Given the description of an element on the screen output the (x, y) to click on. 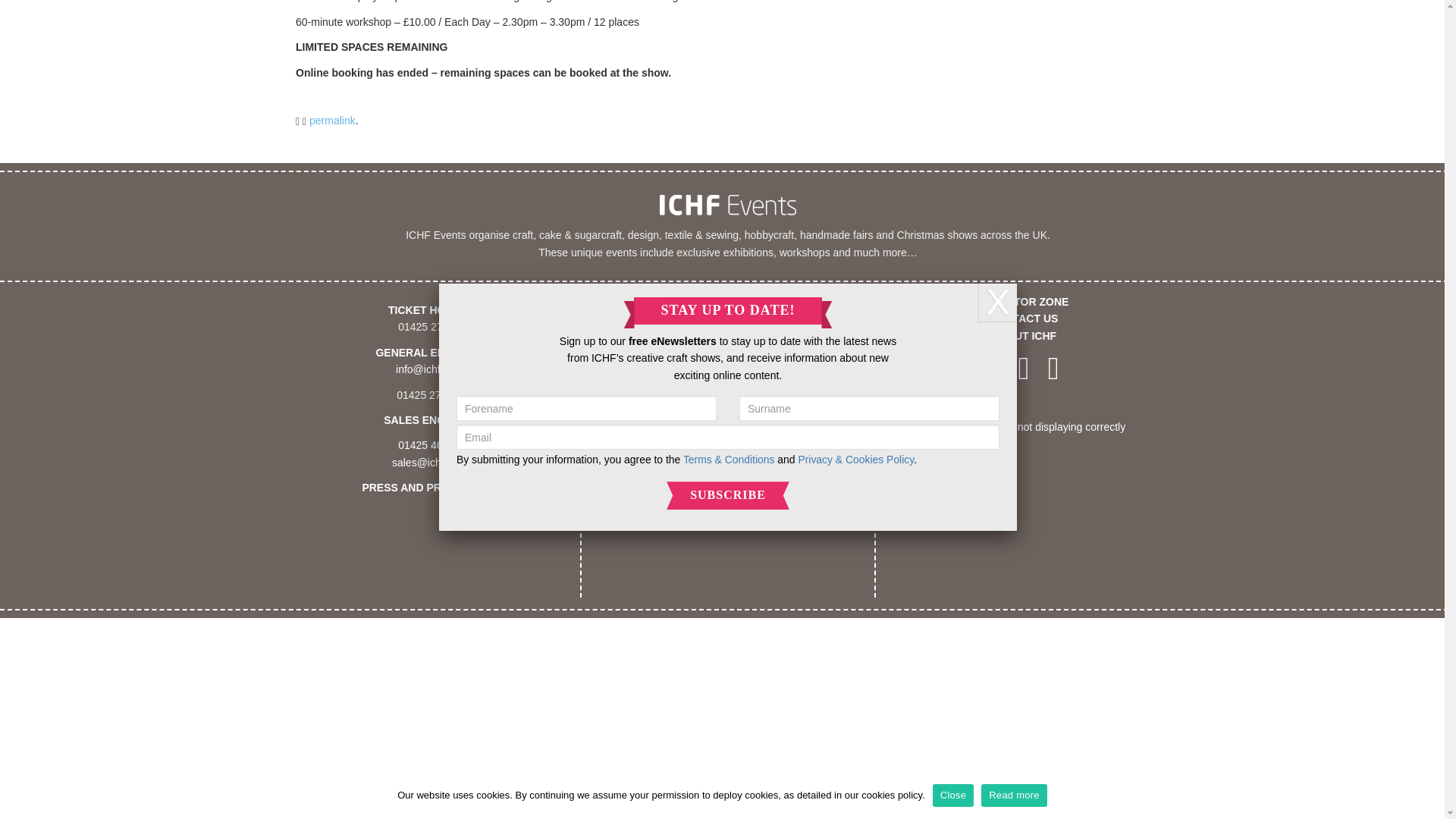
ABOUT ICHF (1024, 336)
Subscribe (727, 168)
Subscribe (727, 168)
Click here if page is not displaying correctly (1023, 426)
Read more (1013, 468)
Close (953, 468)
Permalink to PRETTY WREATH DESIGN (331, 120)
CONTACT US (1024, 318)
permalink (331, 120)
EXHIBITOR ZONE (1023, 301)
